Given the description of an element on the screen output the (x, y) to click on. 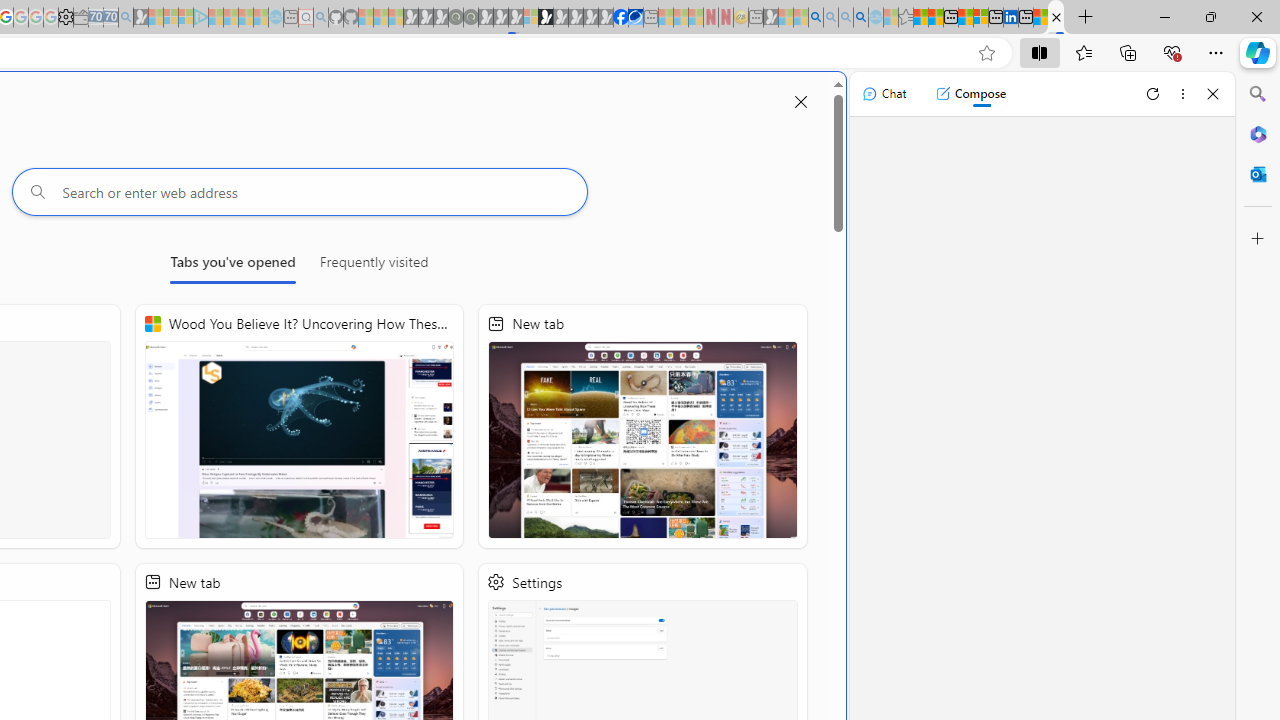
Aberdeen, Hong Kong SAR weather forecast | Microsoft Weather (936, 17)
Close split screen (801, 102)
